Given the description of an element on the screen output the (x, y) to click on. 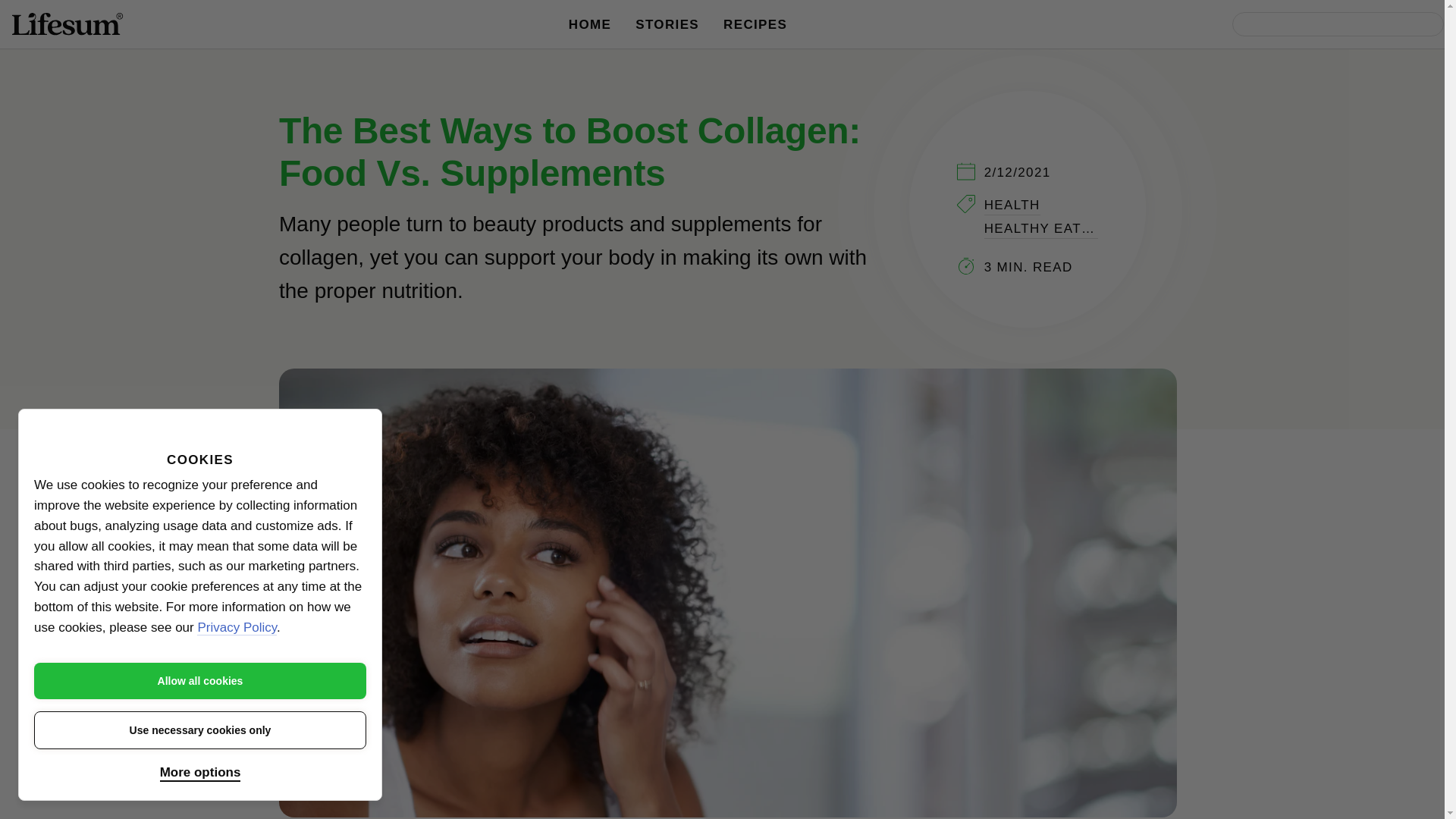
HEALTH (1012, 206)
Privacy Policy (236, 627)
HOME (590, 24)
Allow all cookies (199, 680)
HEALTHY EATING (1040, 229)
RECIPES (755, 24)
Use necessary cookies only (199, 730)
STORIES (666, 24)
More options (200, 773)
